Given the description of an element on the screen output the (x, y) to click on. 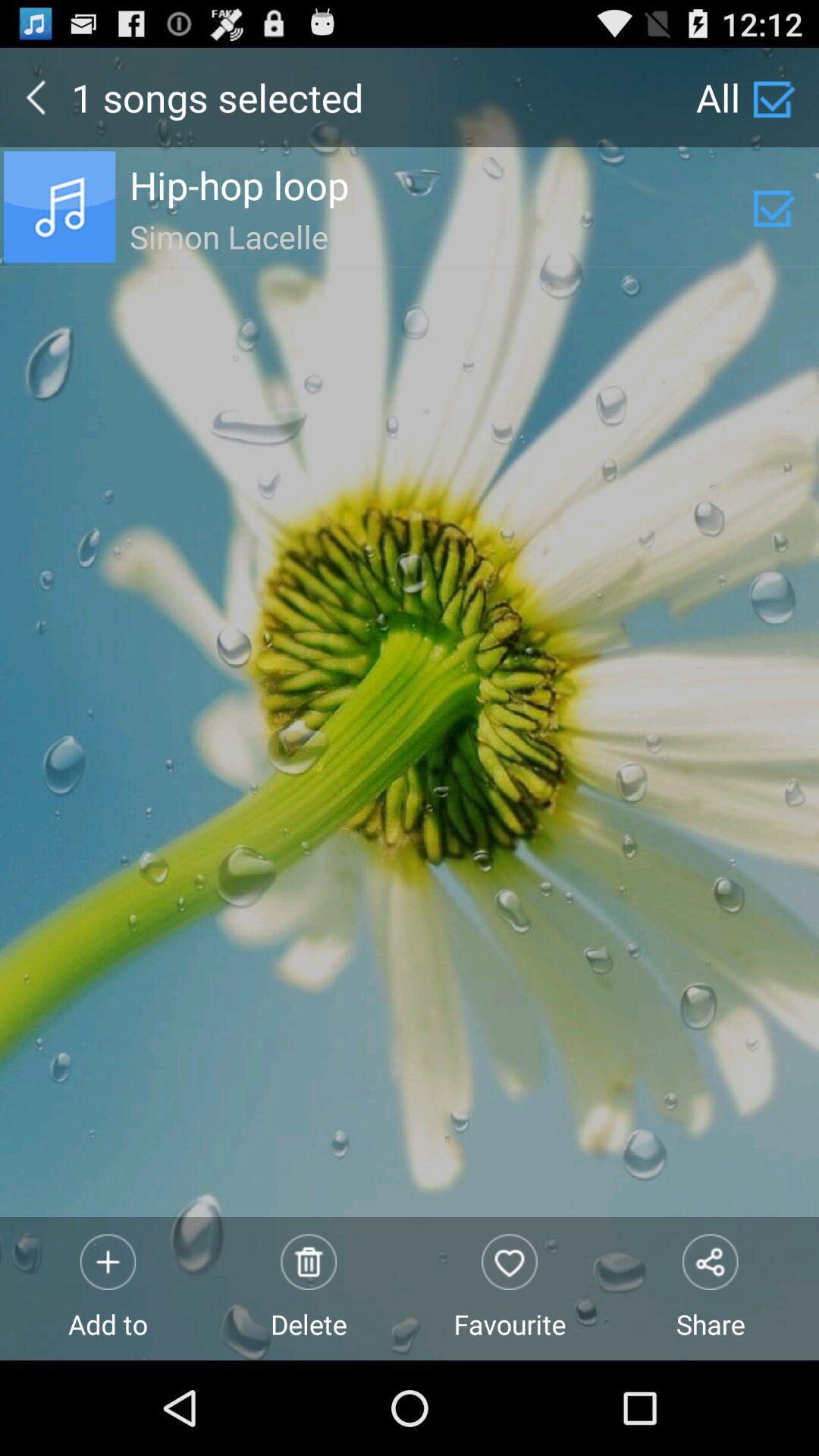
launch icon next to the favourite (710, 1288)
